Given the description of an element on the screen output the (x, y) to click on. 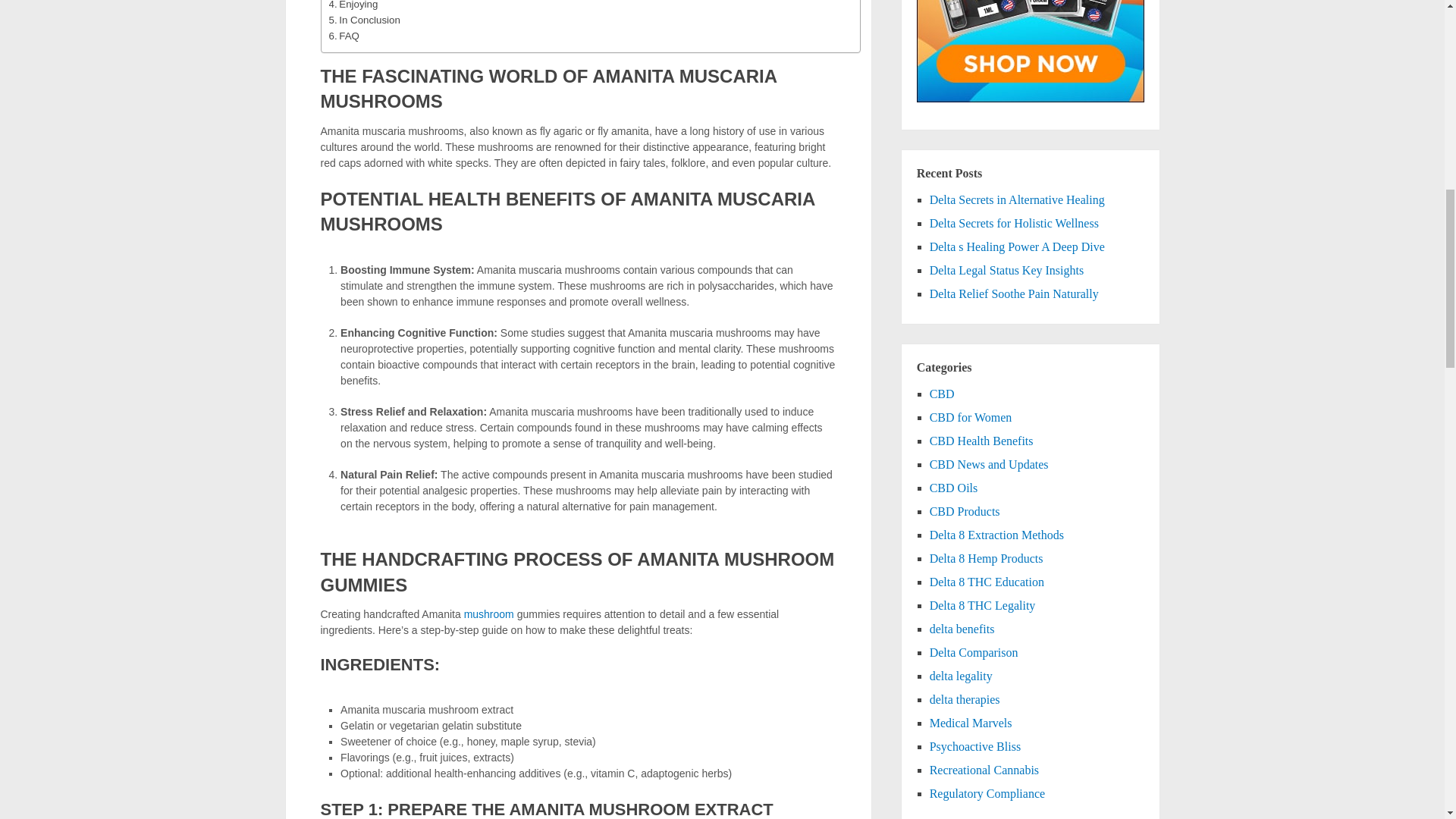
FAQ (344, 35)
In Conclusion (364, 19)
Enjoying (353, 6)
mushroom (488, 613)
In Conclusion (364, 19)
Delta Secrets in Alternative Healing (1017, 199)
Enjoying (353, 6)
FAQ (344, 35)
